Given the description of an element on the screen output the (x, y) to click on. 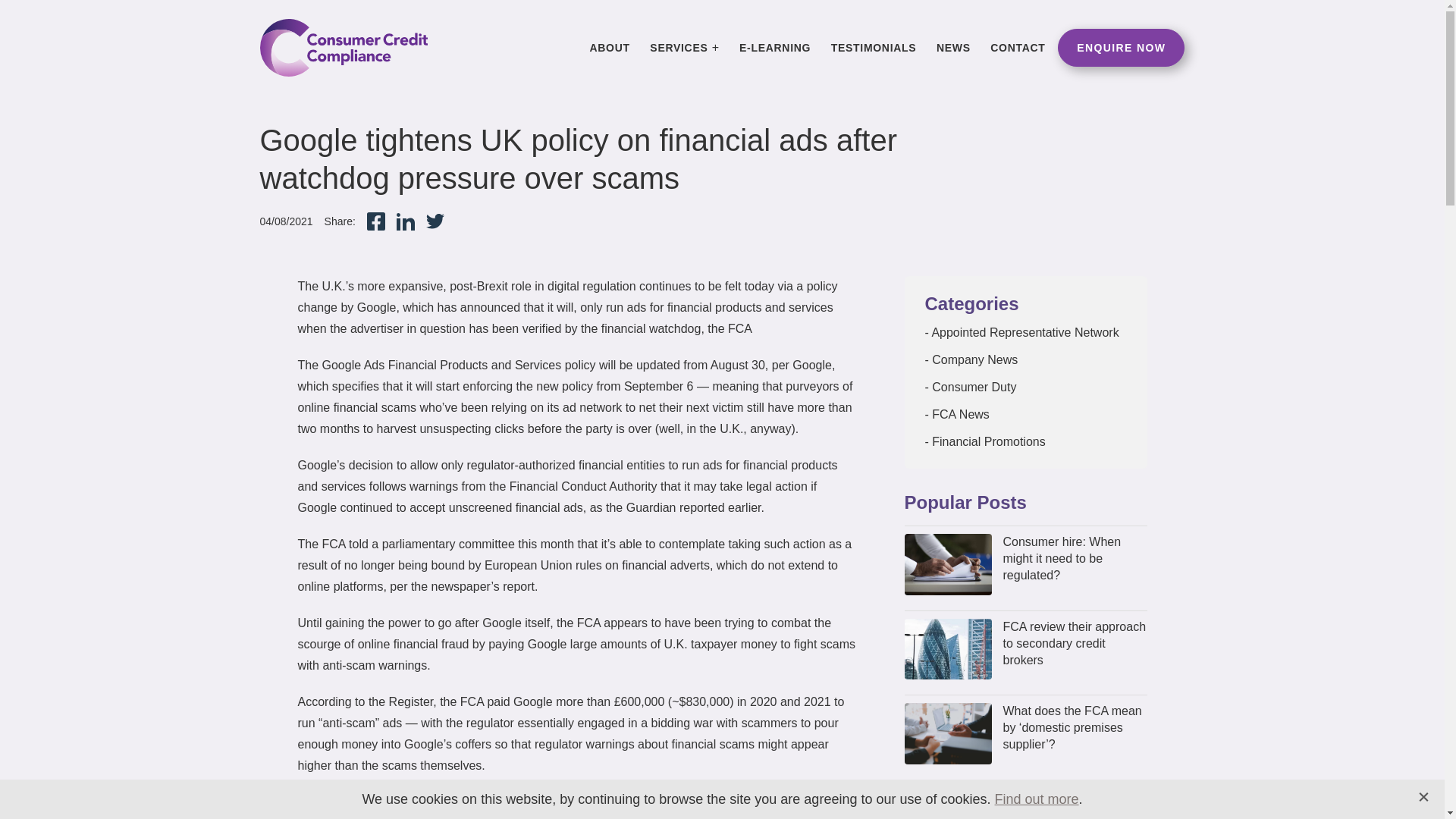
Appointed Representative Network (1021, 332)
NEWS (953, 47)
CONTACT (1017, 47)
SERVICES (684, 47)
ENQUIRE NOW (1121, 47)
Submit (858, 640)
ABOUT (609, 47)
Consumer Credit Compliance (343, 47)
Company News (970, 359)
Consumer hire: When might it need to be regulated? (1075, 558)
FCA News (957, 413)
Consumer Duty (970, 386)
TESTIMONIALS (874, 47)
Financial Promotions (984, 440)
FCA review their approach to secondary credit brokers (1075, 644)
